Given the description of an element on the screen output the (x, y) to click on. 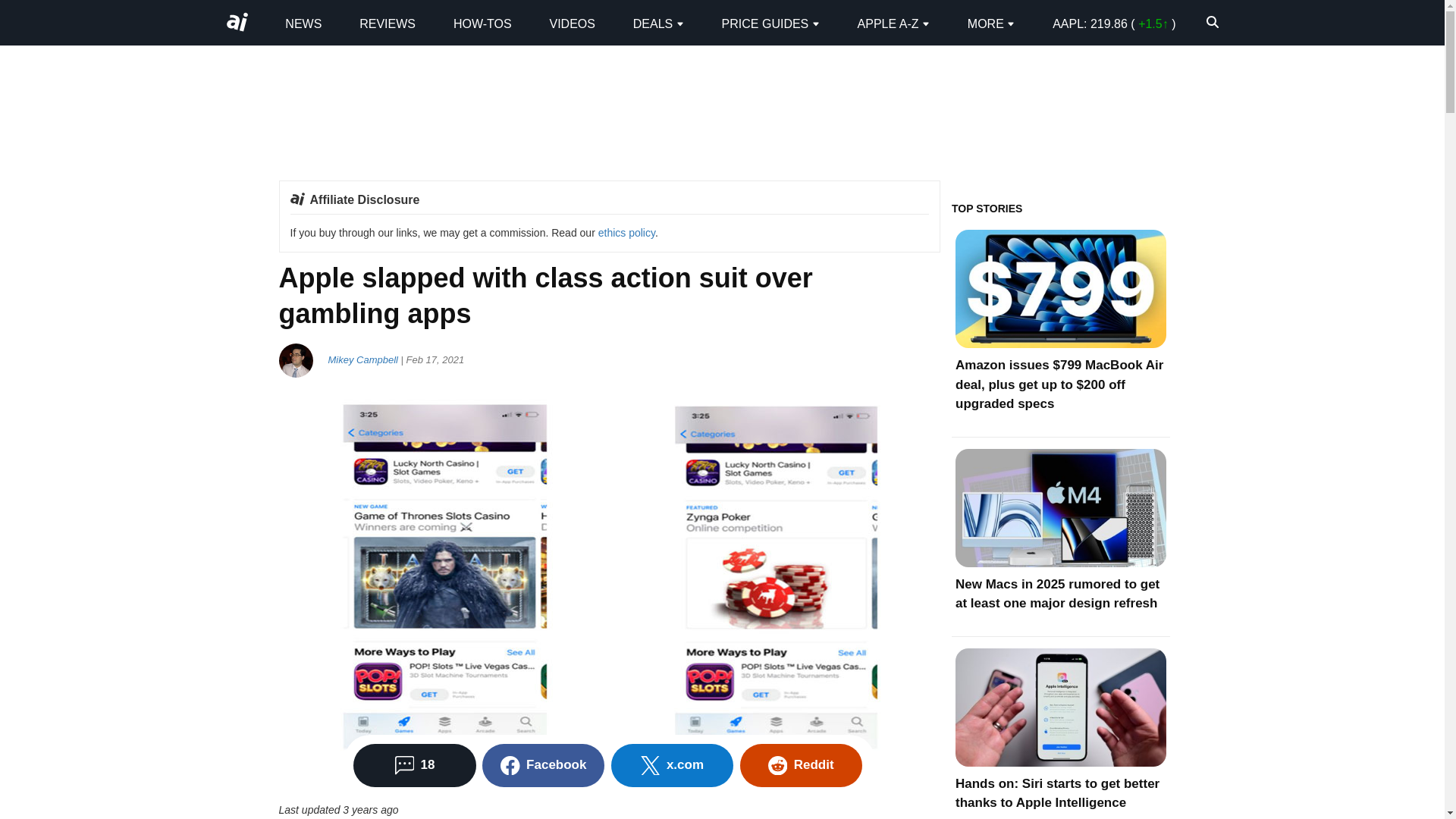
NEWS (303, 23)
Reviews (386, 23)
Videos (571, 23)
VIDEOS (571, 23)
How-Tos (482, 23)
REVIEWS (386, 23)
HOW-TOS (482, 23)
News (303, 23)
